Given the description of an element on the screen output the (x, y) to click on. 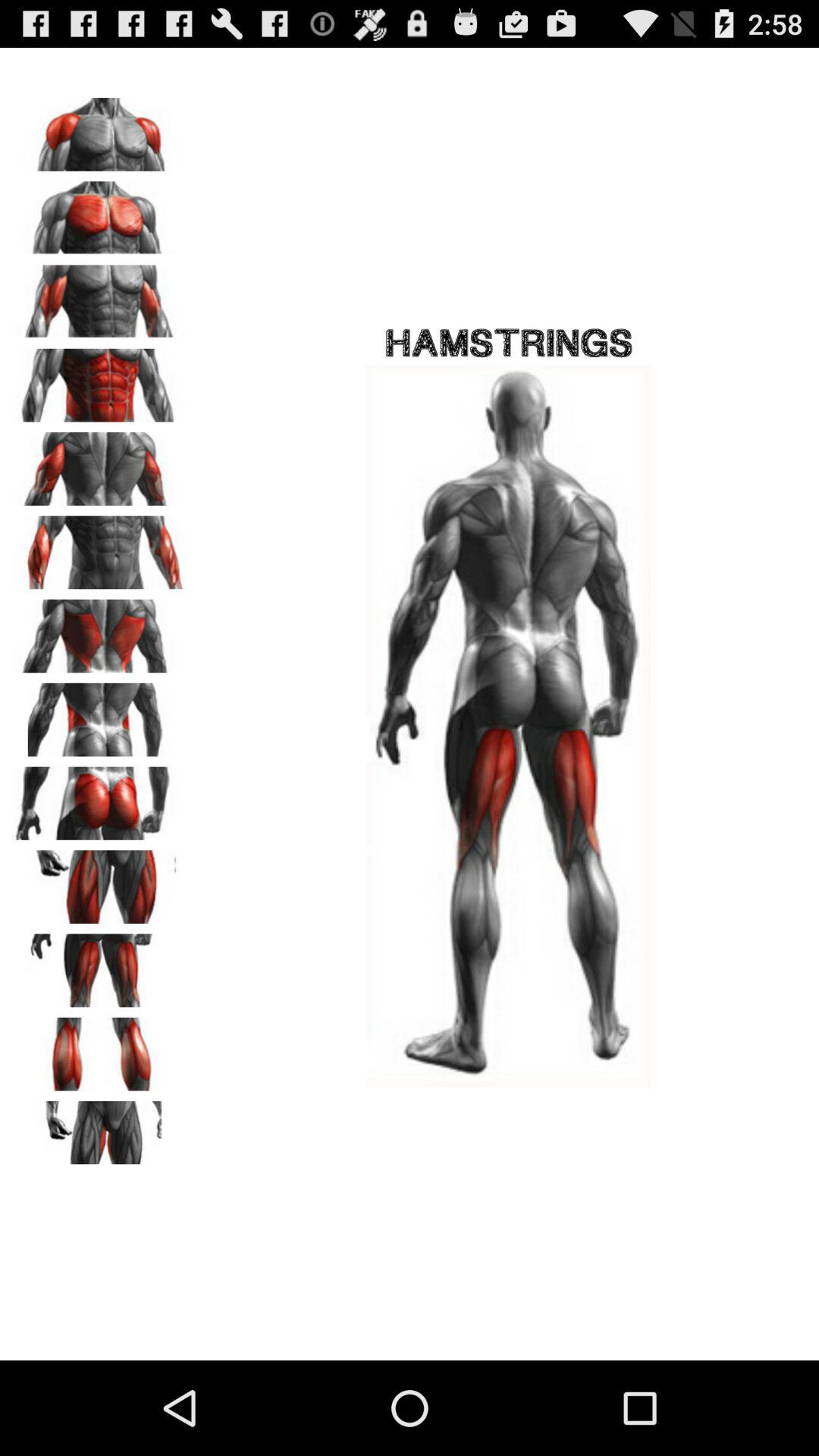
go to chest (99, 212)
